Given the description of an element on the screen output the (x, y) to click on. 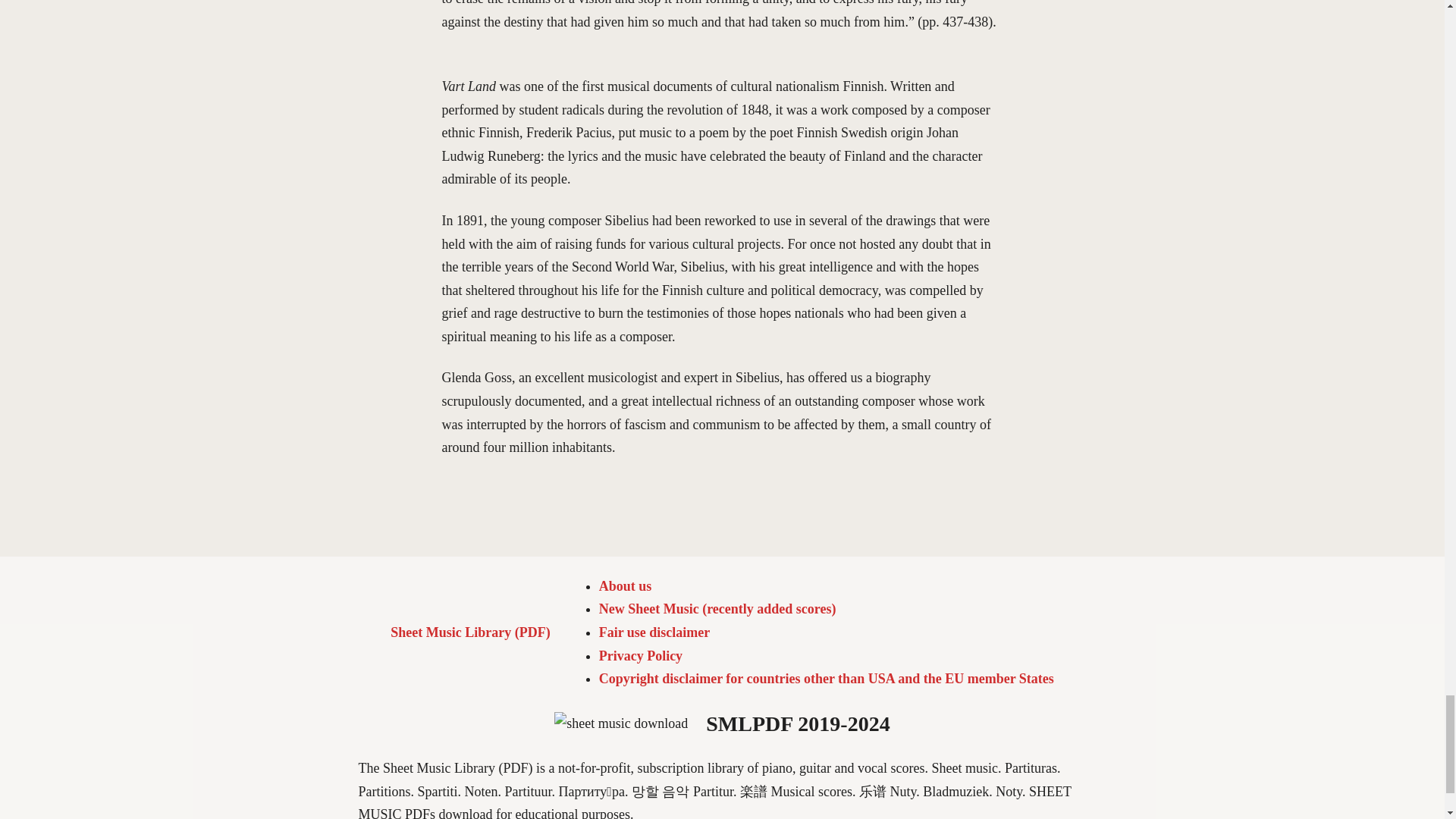
Privacy Policy (640, 655)
Fair use disclaimer (654, 631)
About us (625, 585)
